Given the description of an element on the screen output the (x, y) to click on. 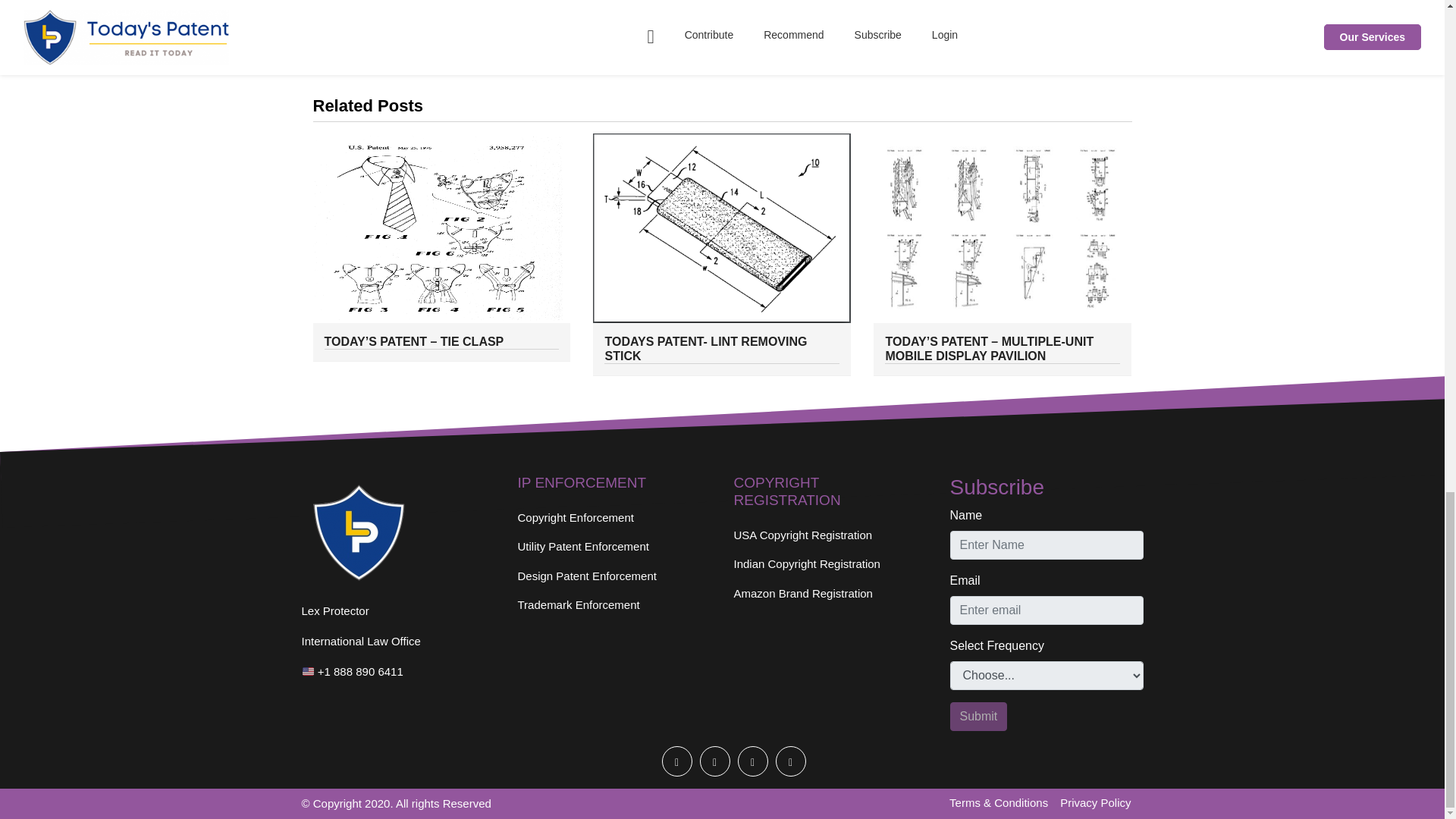
Submit (978, 716)
Amazon Brand Registration (830, 594)
Utility Patent Enforcement (613, 546)
TODAYS PATENT- LINT REMOVING STICK (722, 348)
Post Comment (718, 18)
Copyright Enforcement (613, 518)
Privacy Policy (1100, 803)
Post Comment (718, 18)
Trademark Enforcement (613, 604)
Submit (978, 716)
USA Copyright Registration (830, 535)
Design Patent Enforcement (613, 576)
Indian Copyright Registration (830, 564)
